Given the description of an element on the screen output the (x, y) to click on. 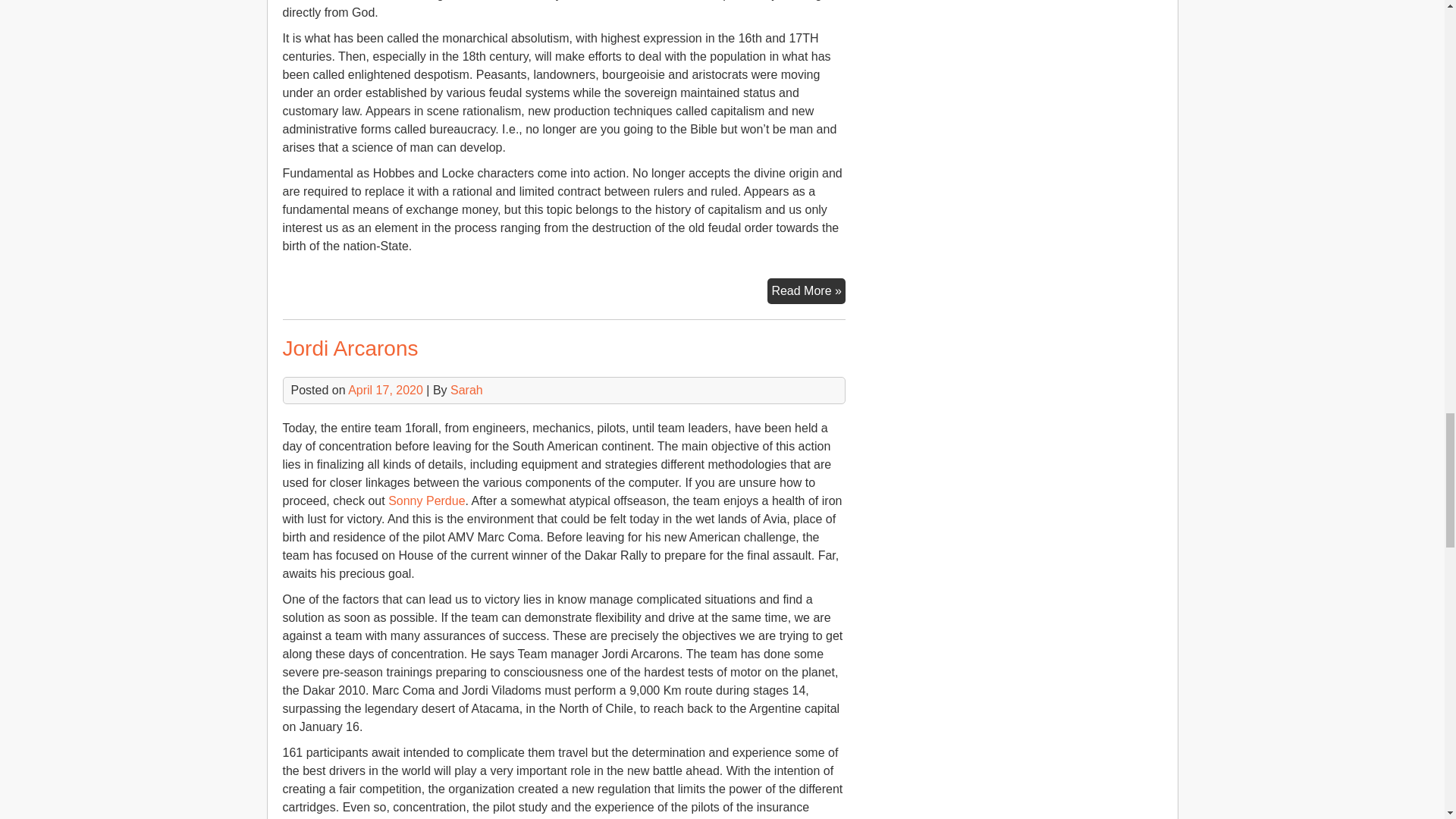
Sonny Perdue (426, 500)
Permalink to Jordi Arcarons (349, 348)
April 17, 2020 (385, 390)
Jordi Arcarons (349, 348)
Sarah (466, 390)
